Given the description of an element on the screen output the (x, y) to click on. 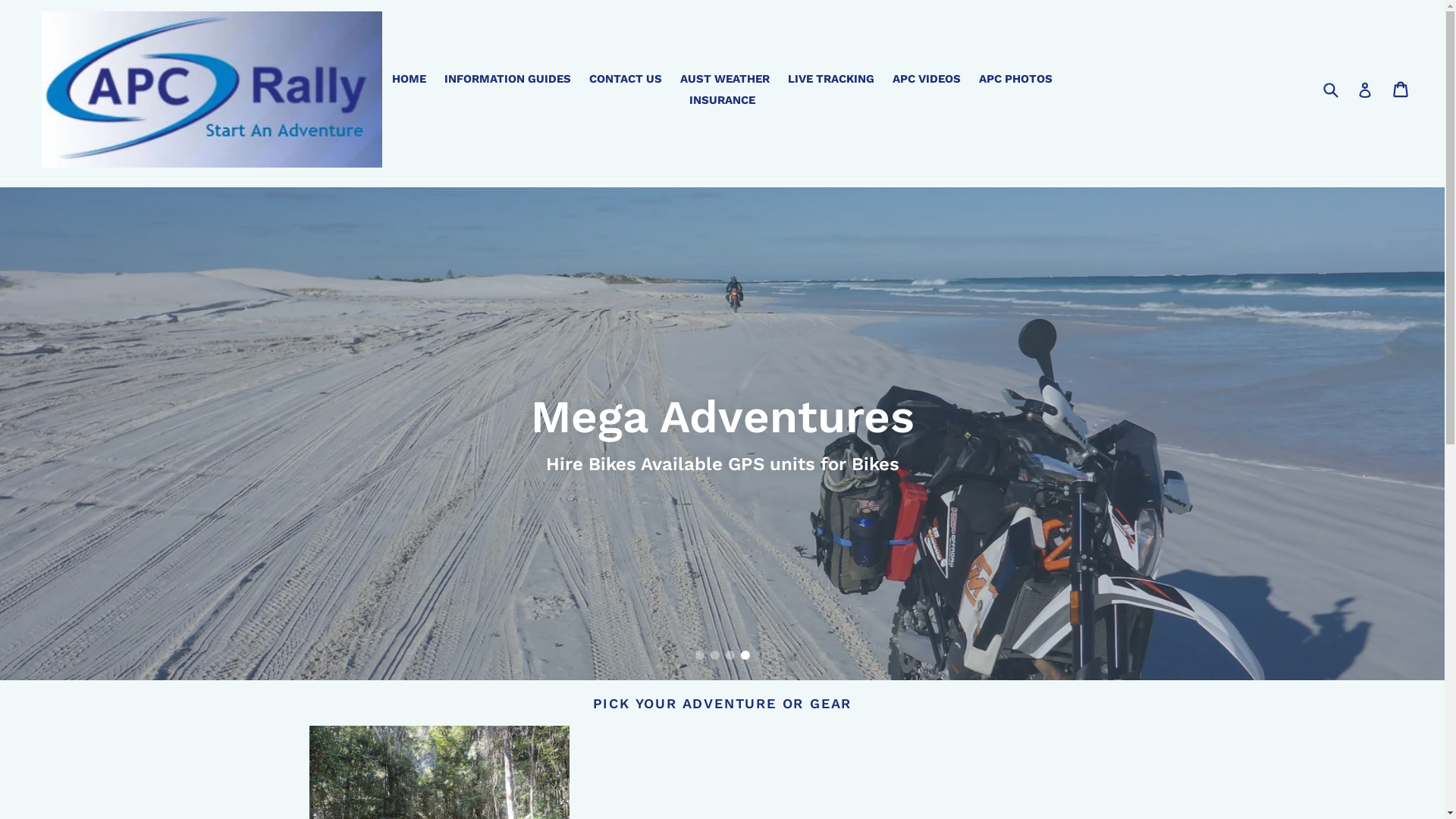
CONTACT US Element type: text (625, 79)
Slide 4 Element type: text (744, 654)
Submit Element type: text (1329, 89)
APC PHOTOS Element type: text (1015, 79)
INFORMATION GUIDES Element type: text (507, 79)
LIVE TRACKING Element type: text (830, 79)
APC VIDEOS Element type: text (926, 79)
AUST WEATHER Element type: text (724, 79)
Log in Element type: text (1364, 89)
INSURANCE Element type: text (721, 100)
Slide 3 Element type: text (729, 654)
Cart
Cart Element type: text (1401, 89)
Slide 2 Element type: text (713, 654)
HOME Element type: text (408, 79)
Slide 1 Element type: text (698, 654)
